Given the description of an element on the screen output the (x, y) to click on. 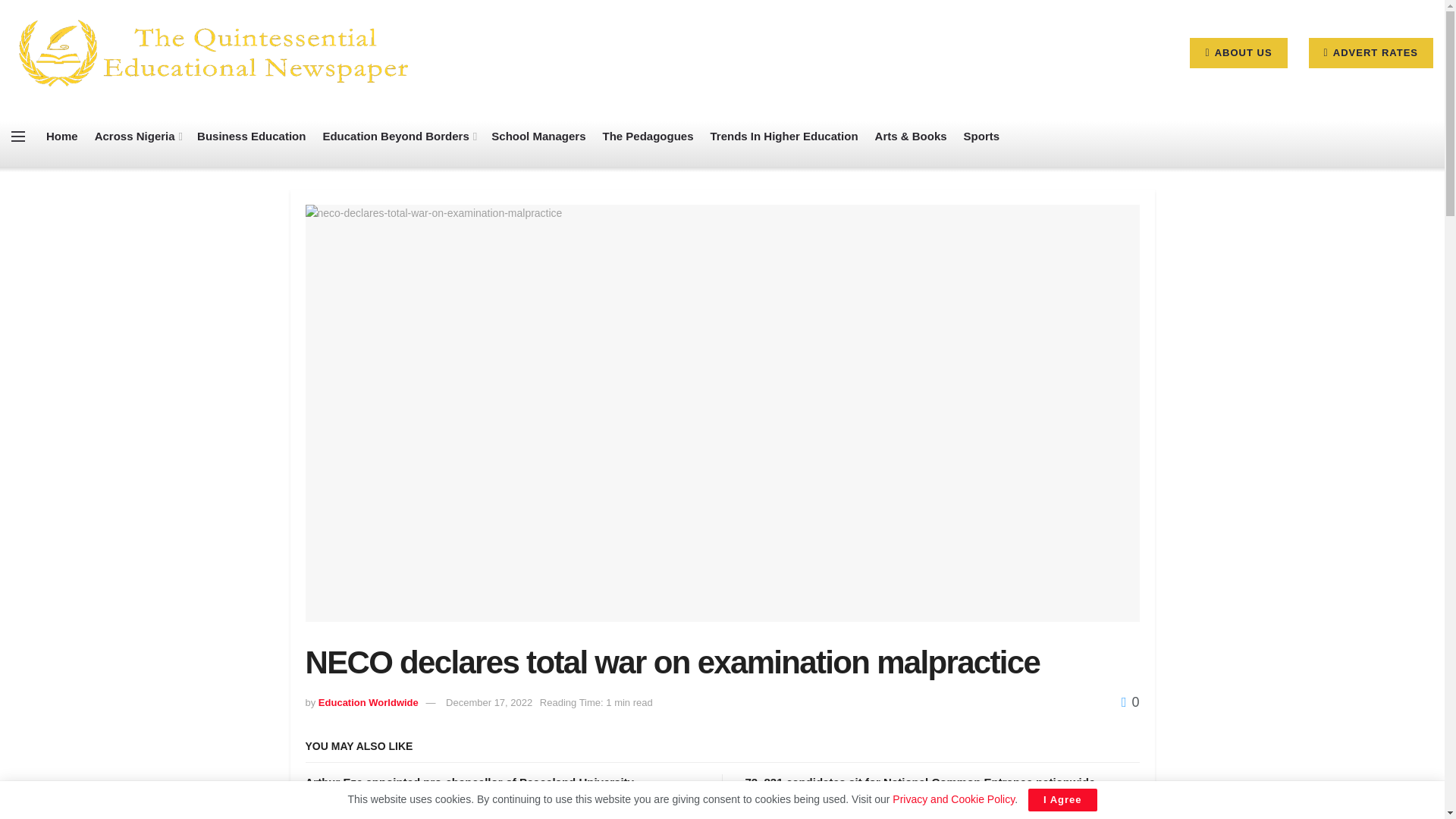
Sports (981, 136)
Business Education (250, 136)
The Pedagogues (647, 136)
School Managers (538, 136)
Education Beyond Borders (397, 136)
Trends In Higher Education (784, 136)
ADVERT RATES (1370, 52)
Home (62, 136)
Education Worldwide (368, 702)
December 17, 2022 (488, 702)
Arthur Eze appointed pro-chancellor of Peaceland University (468, 781)
Across Nigeria (137, 136)
0 (1130, 702)
ABOUT US (1238, 52)
